Given the description of an element on the screen output the (x, y) to click on. 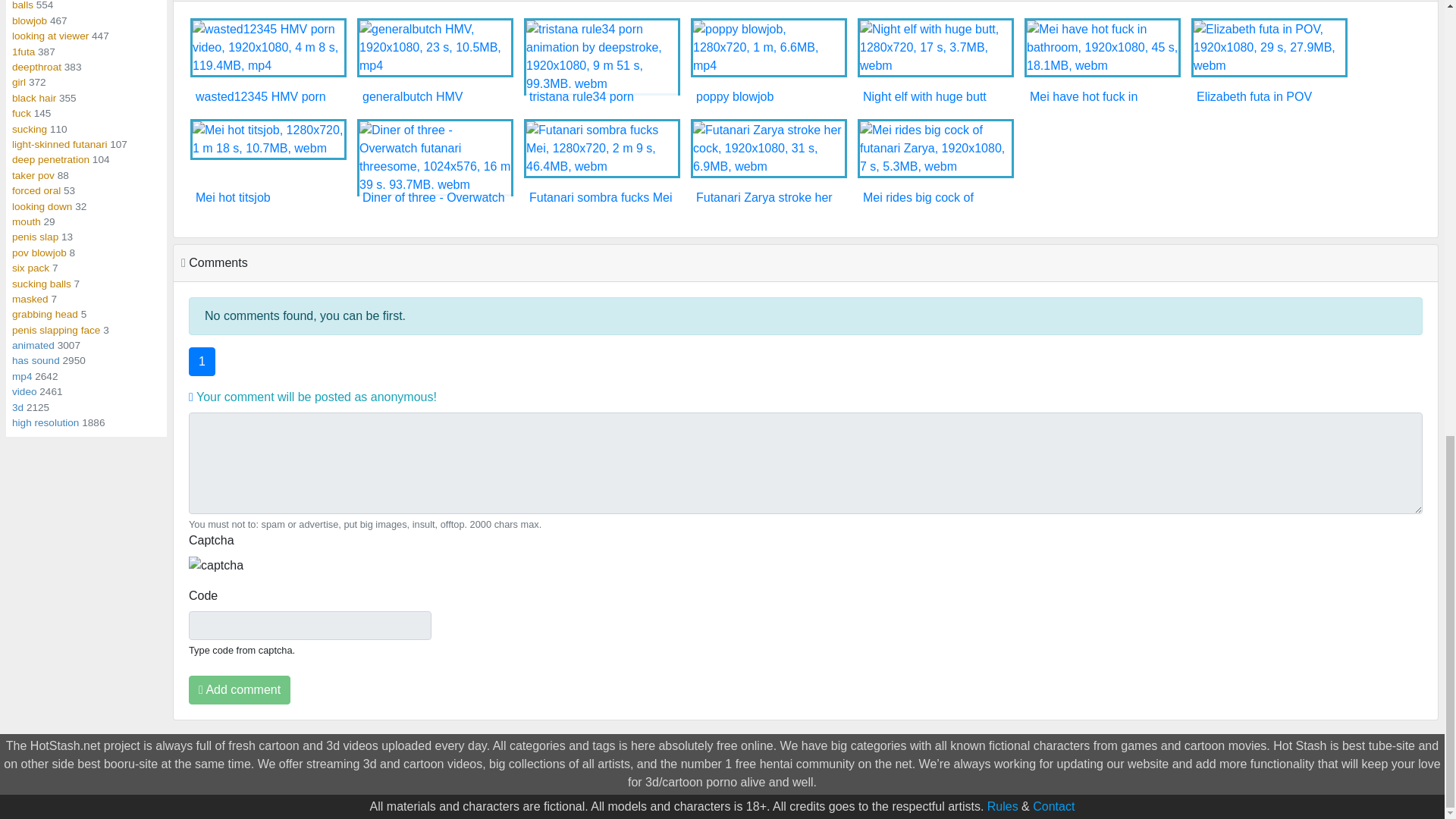
1futa (22, 51)
general (28, 20)
blowjob (28, 20)
deepthroat (36, 66)
general (22, 5)
girl (18, 81)
general (49, 35)
light-skinned futanari (58, 143)
balls (22, 5)
general (36, 66)
